Given the description of an element on the screen output the (x, y) to click on. 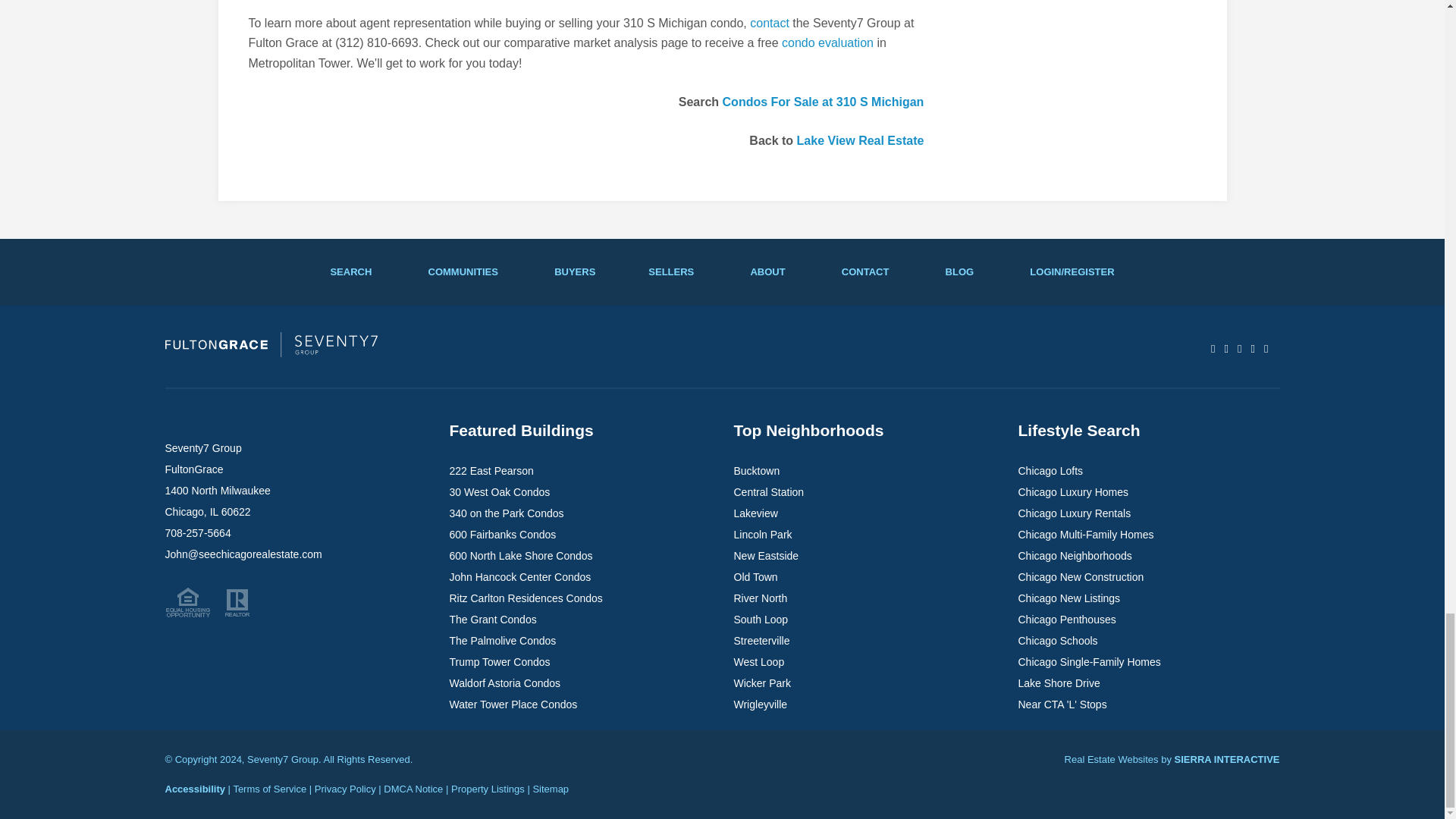
View Lakeview (755, 512)
View The Palmolive Condos (502, 640)
View 30 West Oak Condos (499, 491)
View 340 on the Park Condos (505, 512)
View Water Tower Place Condos (512, 704)
View Central Station (769, 491)
View Trump Tower Condos (499, 662)
View Lincoln Park (762, 534)
View 222 East Pearson (490, 470)
View Waldorf Astoria Condos (504, 683)
